Given the description of an element on the screen output the (x, y) to click on. 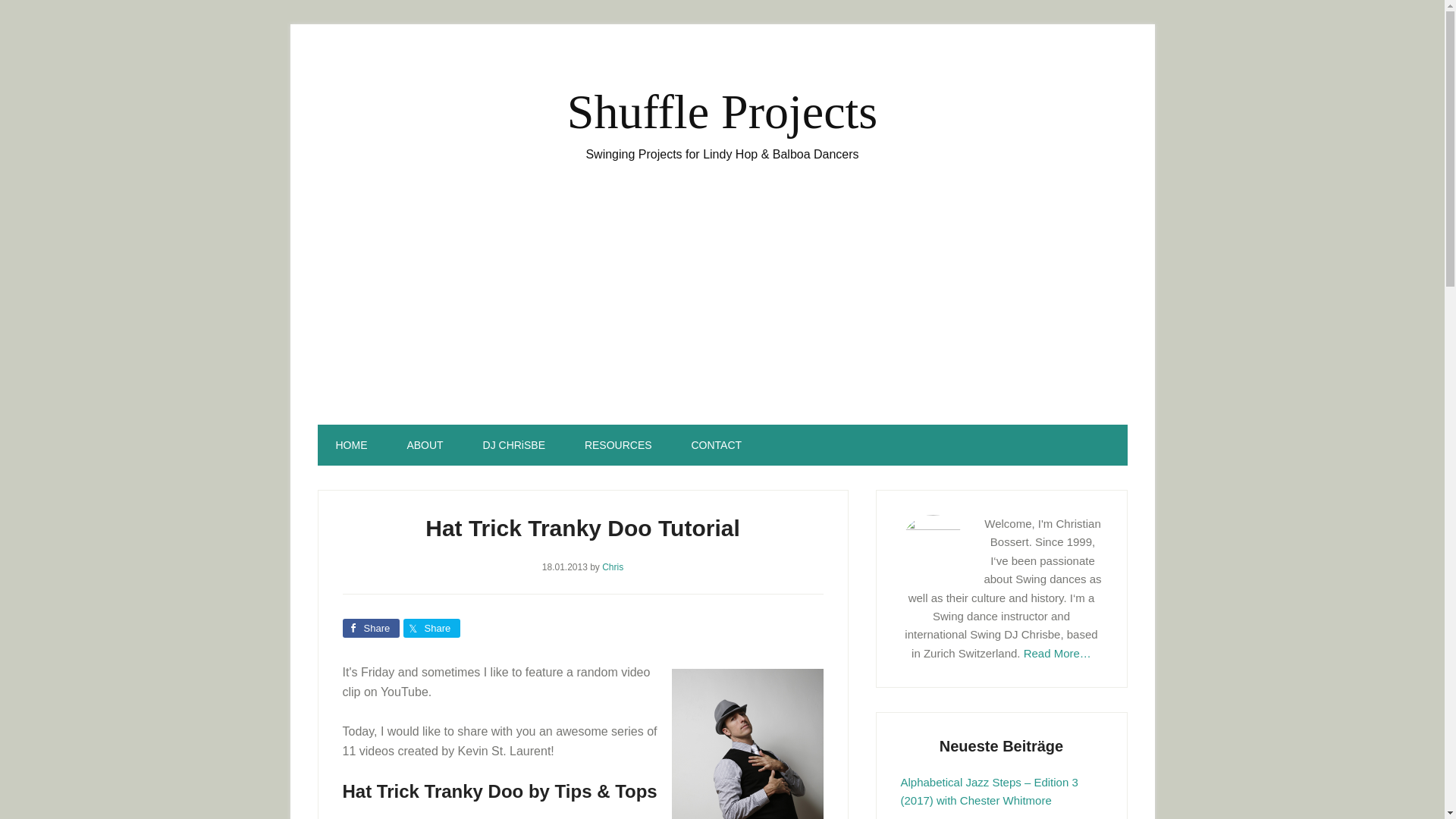
DJ CHRiSBE (513, 445)
Chris (612, 566)
Shuffle Projects (722, 111)
HOME (351, 445)
Share (431, 628)
RESOURCES (617, 445)
ABOUT (424, 445)
CONTACT (716, 445)
Share (370, 628)
